Given the description of an element on the screen output the (x, y) to click on. 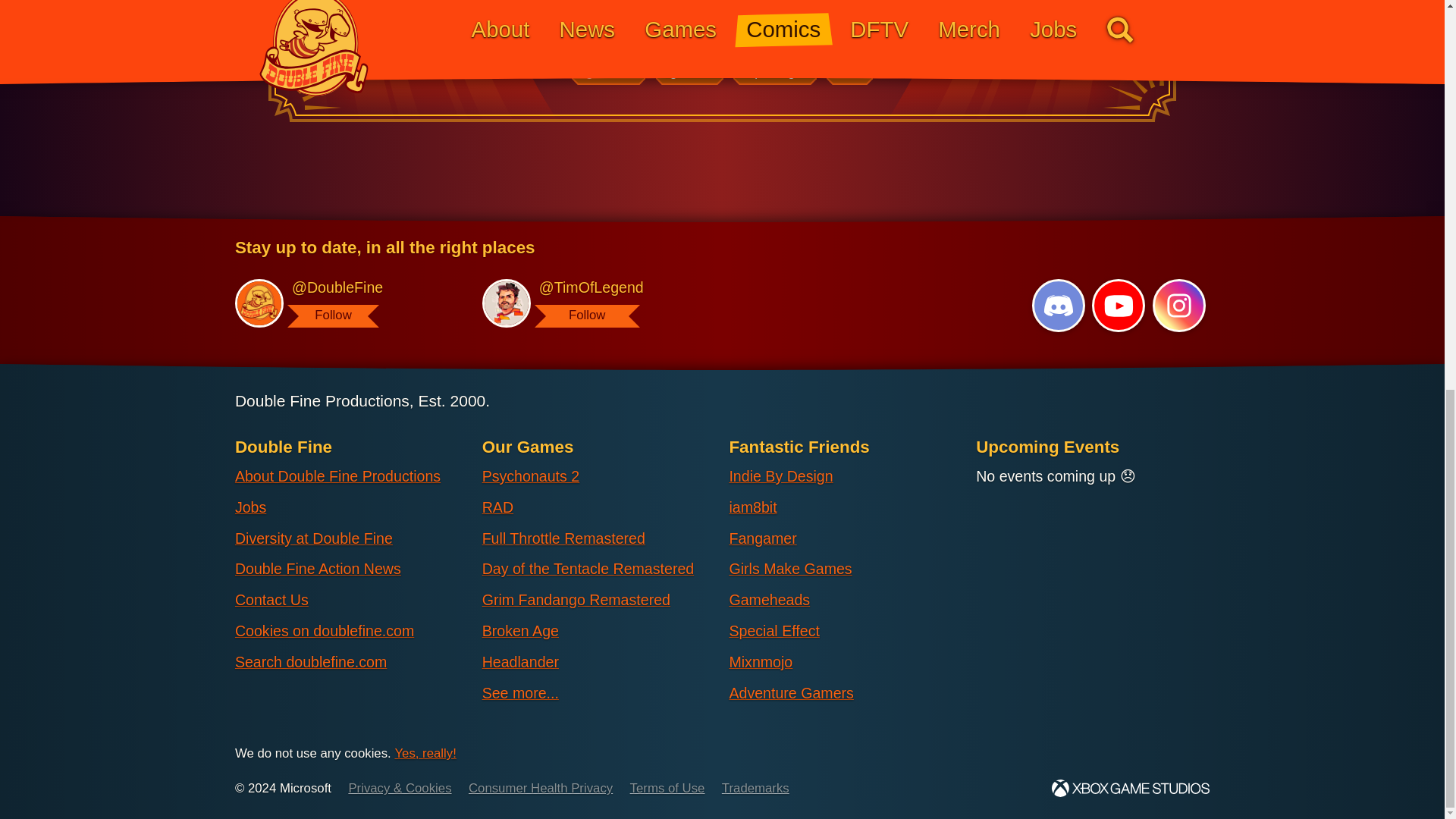
Double Fine Action News (317, 569)
Instagram (1179, 304)
raz (849, 72)
gnomes (608, 72)
Search doublefine.com (310, 662)
Diversity at Double Fine (313, 538)
Psychonauts 2 (530, 476)
Day of the Tentacle Remastered (587, 569)
Discord (1058, 304)
Jobs (250, 507)
YouTube (1118, 304)
epic saga (774, 72)
gnome (689, 72)
About Double Fine Productions (337, 476)
Contact Us (271, 600)
